Given the description of an element on the screen output the (x, y) to click on. 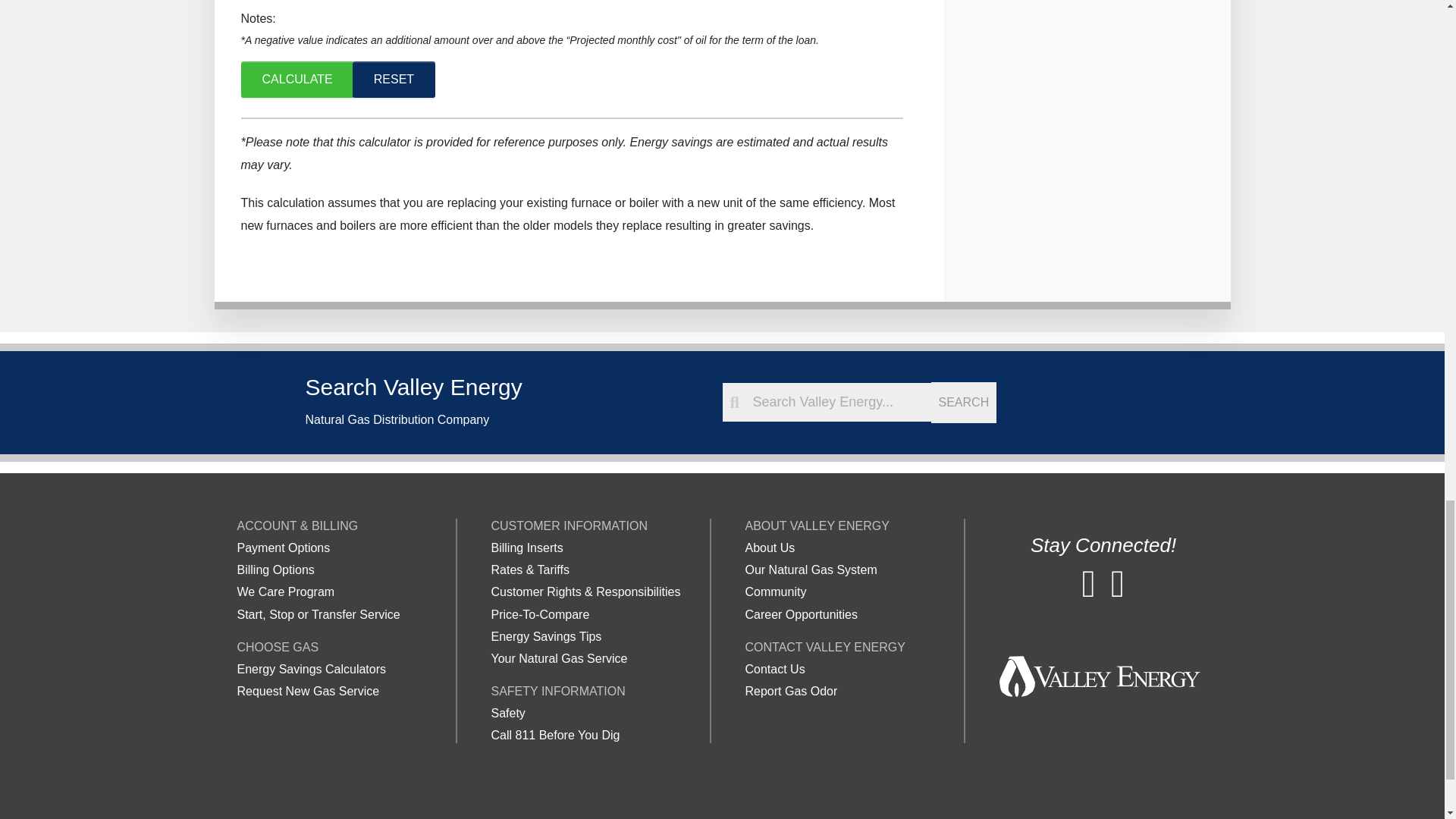
Opens New Window (1088, 583)
Opens New Window (1117, 583)
Search (964, 402)
Reset (393, 79)
Calculate (297, 79)
